Given the description of an element on the screen output the (x, y) to click on. 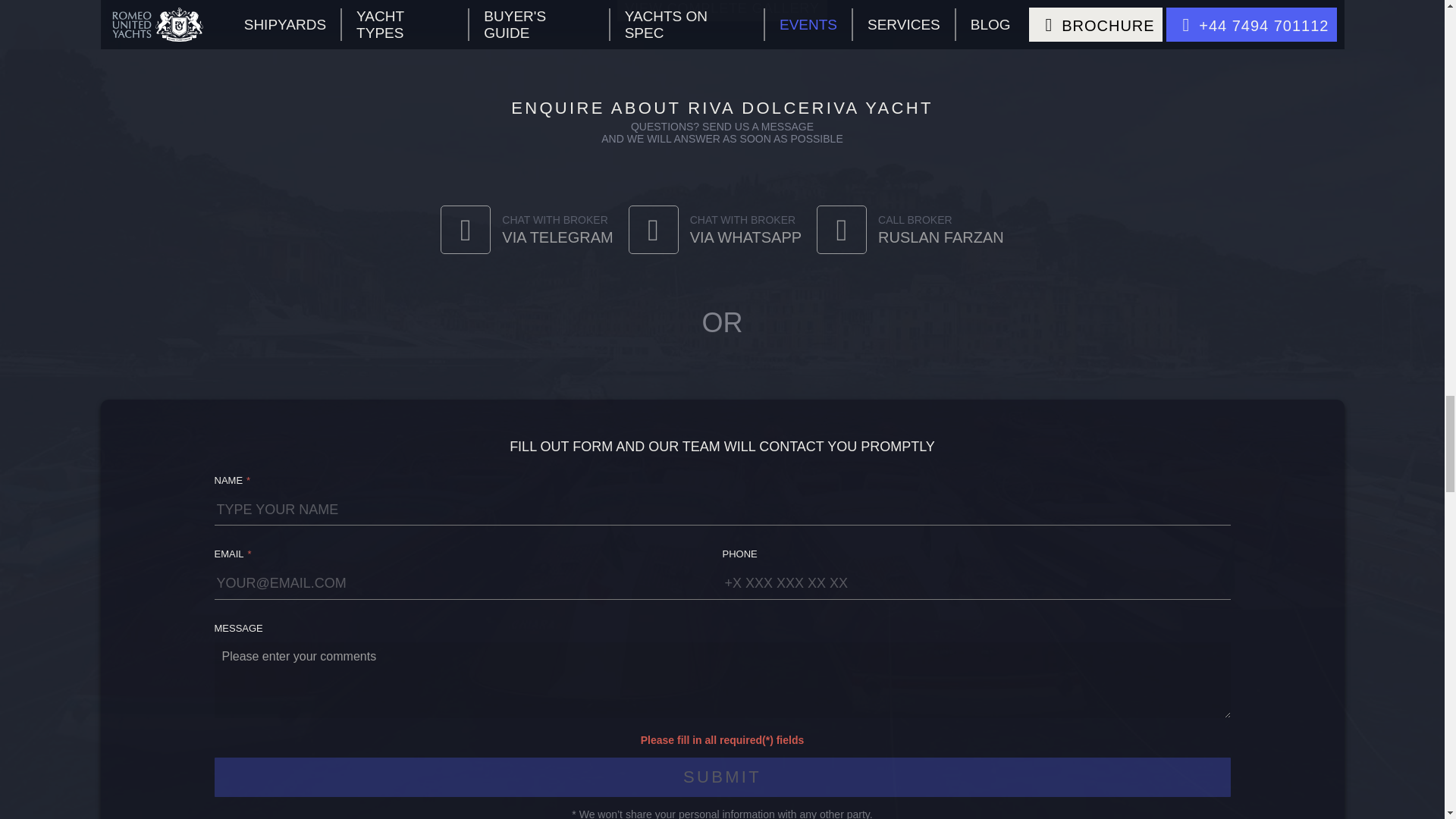
Submit (722, 776)
